Given the description of an element on the screen output the (x, y) to click on. 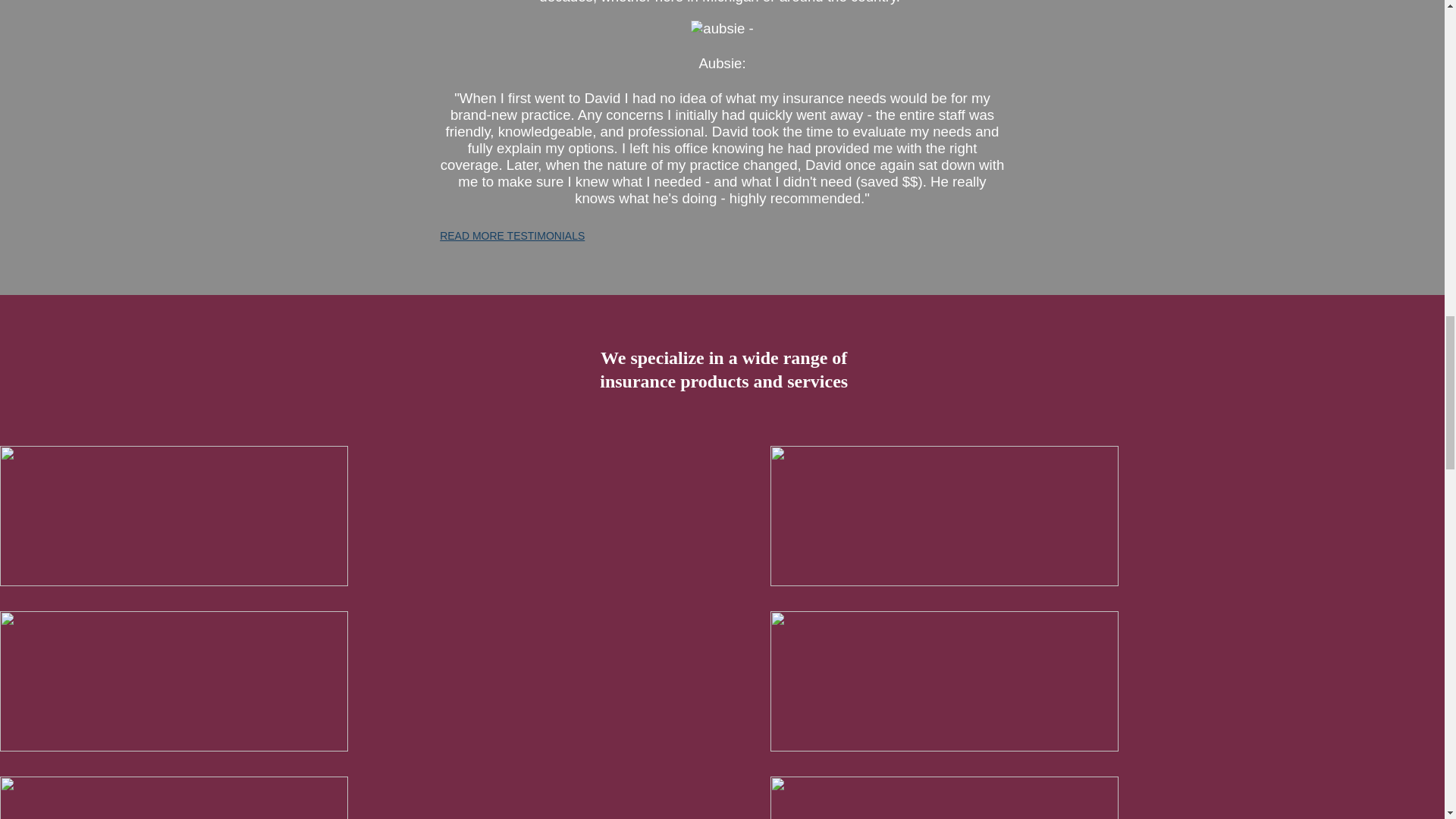
Life Insurance (944, 680)
Business Insurance (944, 515)
aubsie - (721, 28)
READ MORE TESTIMONIALS (512, 235)
Personal Insurance (944, 797)
Commercial Insurance (173, 797)
